Given the description of an element on the screen output the (x, y) to click on. 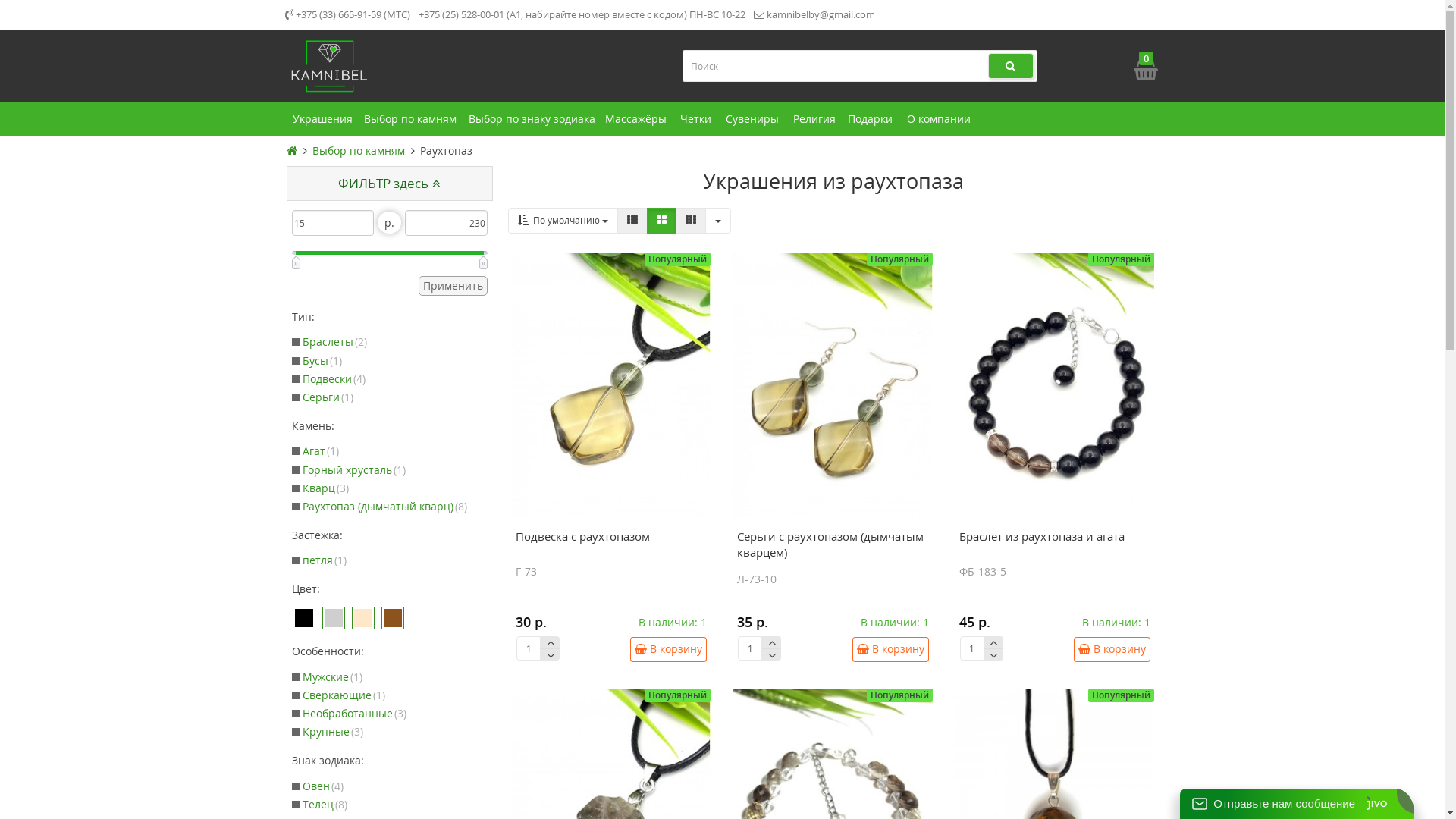
kamnibelby@gmail.com Element type: text (814, 14)
0 Element type: text (1142, 69)
